Given the description of an element on the screen output the (x, y) to click on. 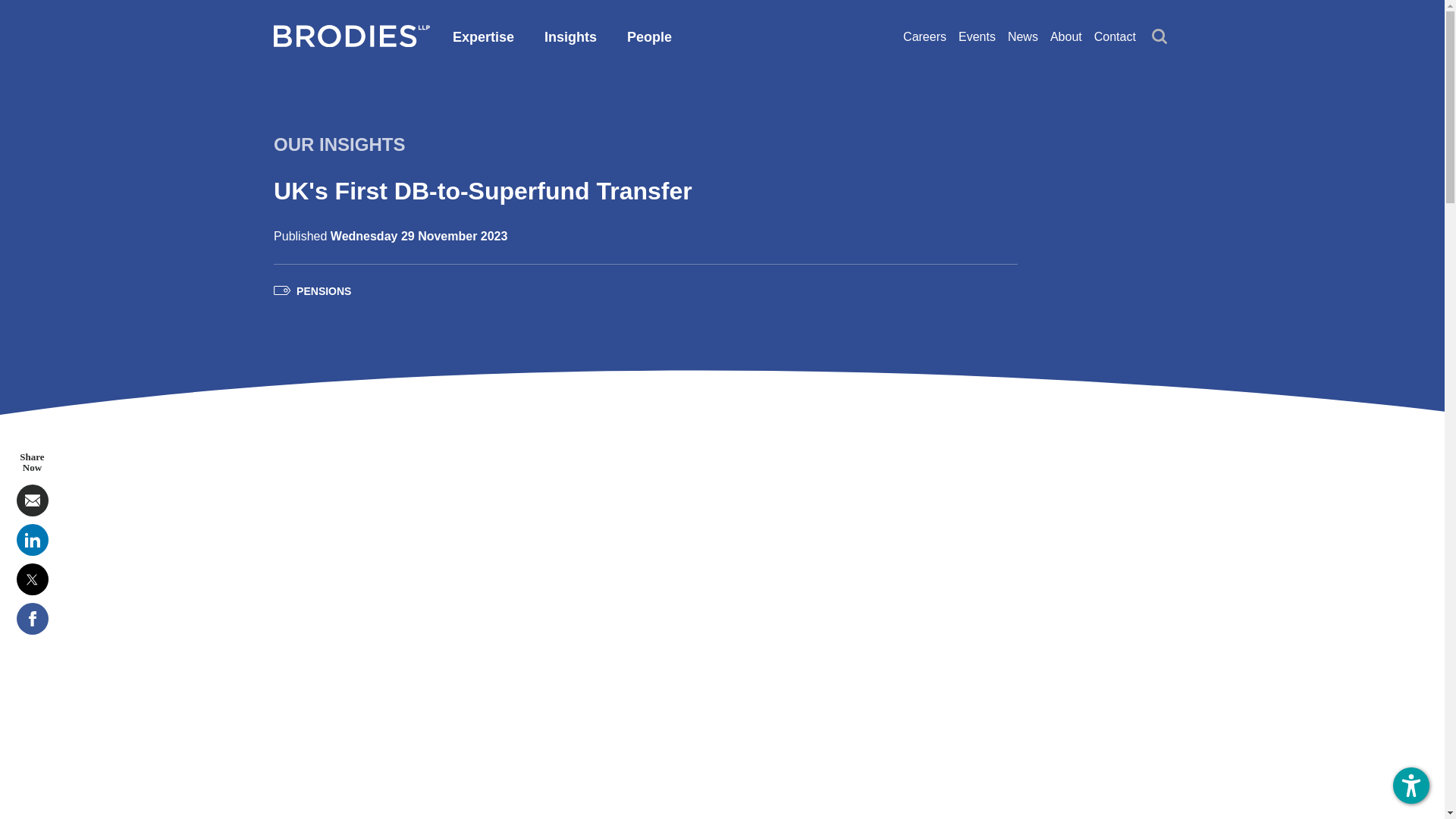
Click to return to the homepage (351, 42)
Share via email (32, 500)
Share on Twitter (32, 579)
Open accessibility tools (1411, 785)
Share on LinkedIn (32, 540)
Brodies (351, 36)
Brodies (351, 42)
Share on Facebook (32, 618)
